Given the description of an element on the screen output the (x, y) to click on. 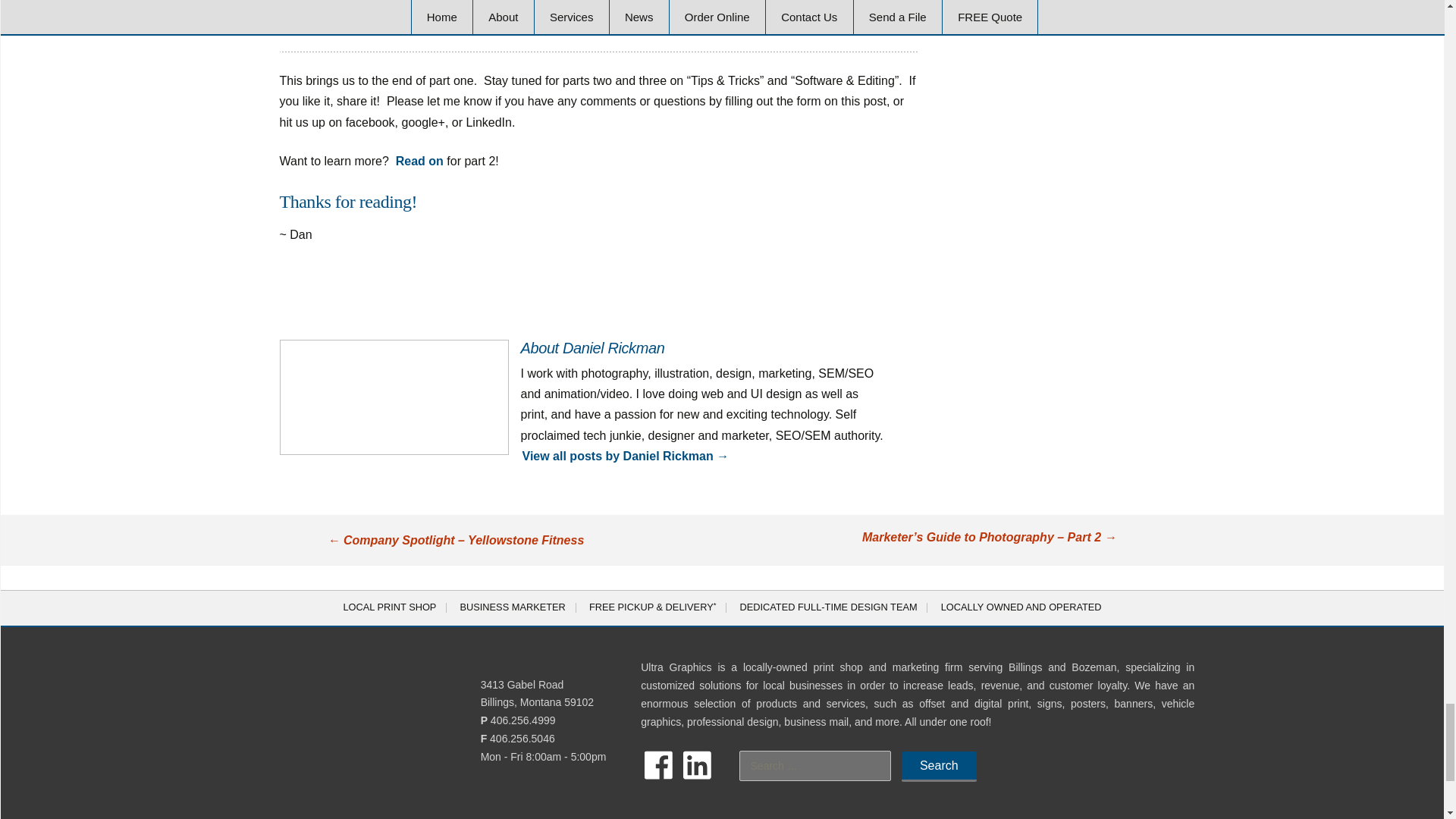
Search (938, 766)
Dan Rickman, Marketing, Web Services, Large Format Manager (394, 397)
Search (938, 766)
